Given the description of an element on the screen output the (x, y) to click on. 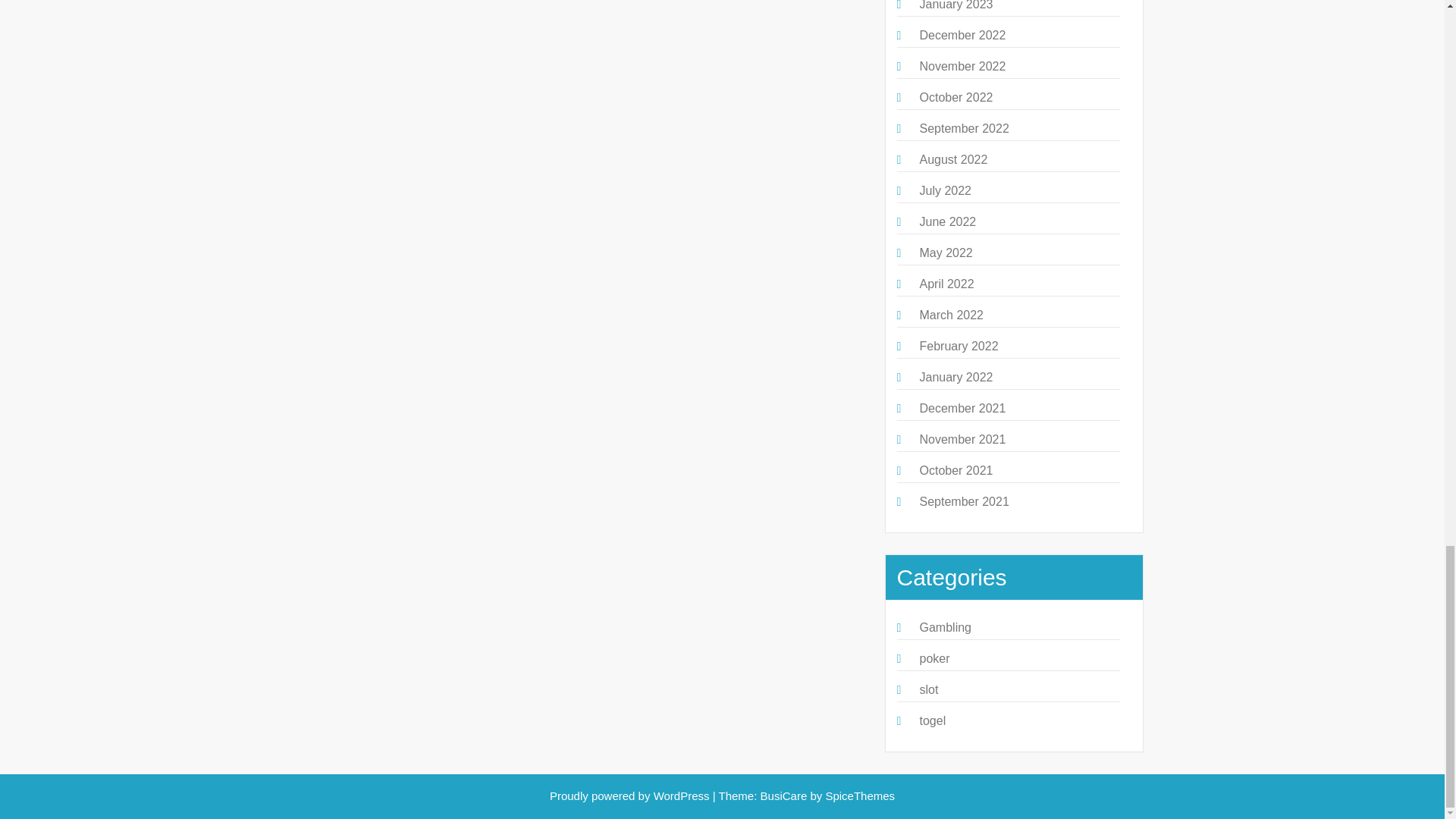
January 2023 (955, 5)
September 2022 (963, 128)
November 2022 (962, 65)
December 2022 (962, 34)
October 2022 (955, 97)
